Given the description of an element on the screen output the (x, y) to click on. 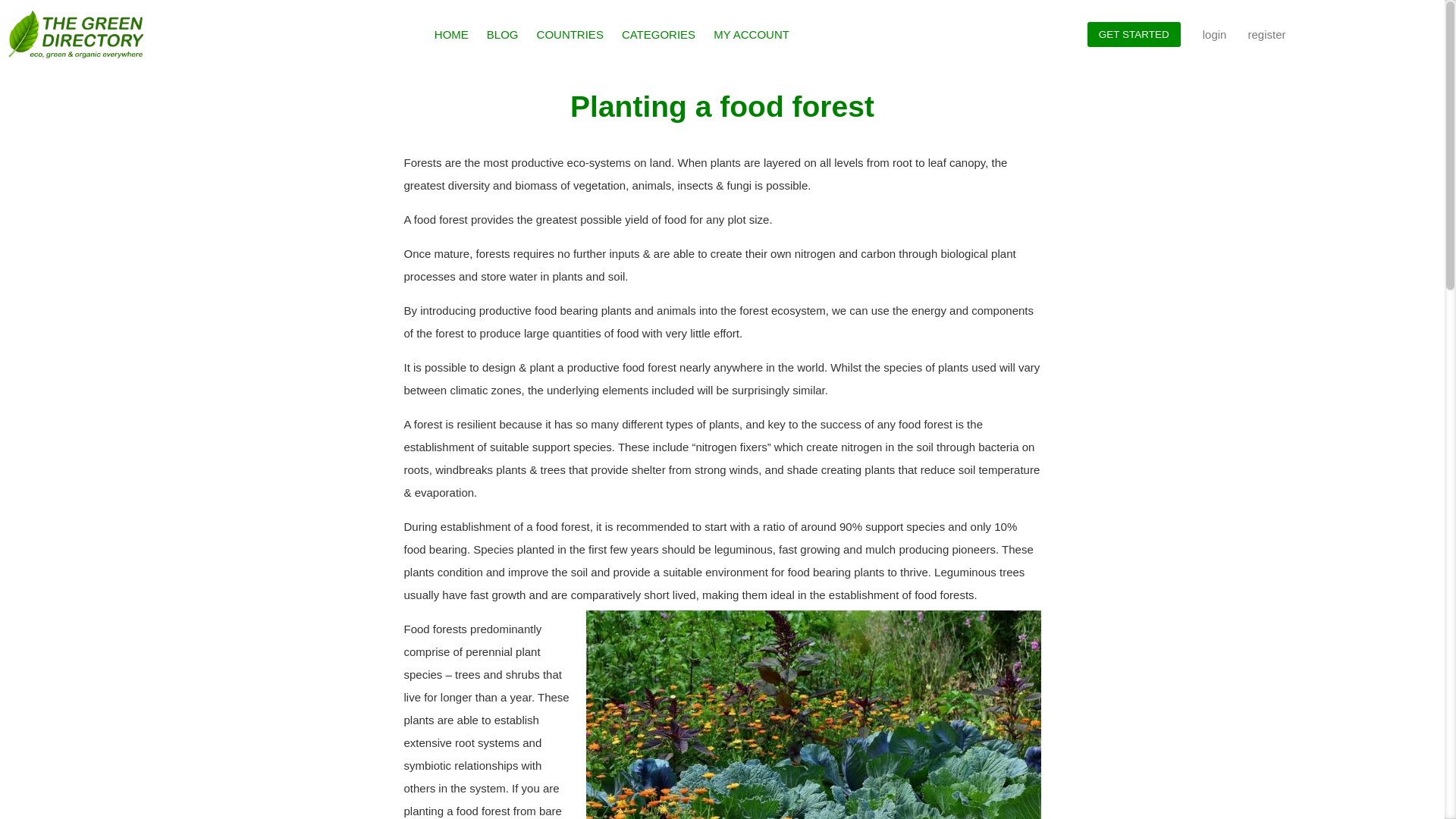
CATEGORIES (658, 34)
BLOG (502, 34)
MY ACCOUNT (750, 34)
COUNTRIES (569, 34)
HOME (451, 34)
